Given the description of an element on the screen output the (x, y) to click on. 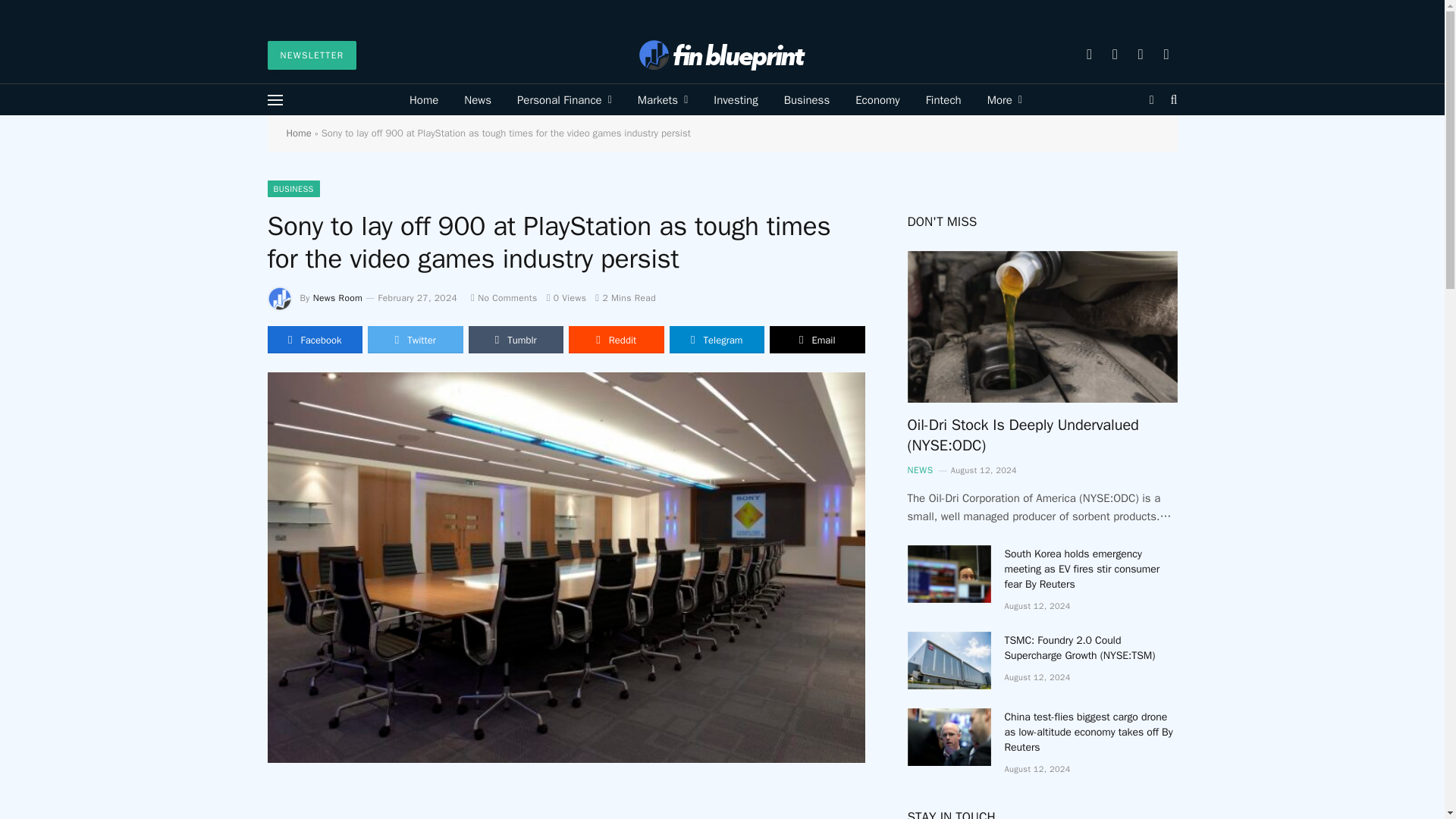
Switch to Dark Design - easier on eyes. (1151, 100)
Fin Blueprint (722, 54)
Posts by News Room (337, 297)
NEWSLETTER (311, 54)
